Given the description of an element on the screen output the (x, y) to click on. 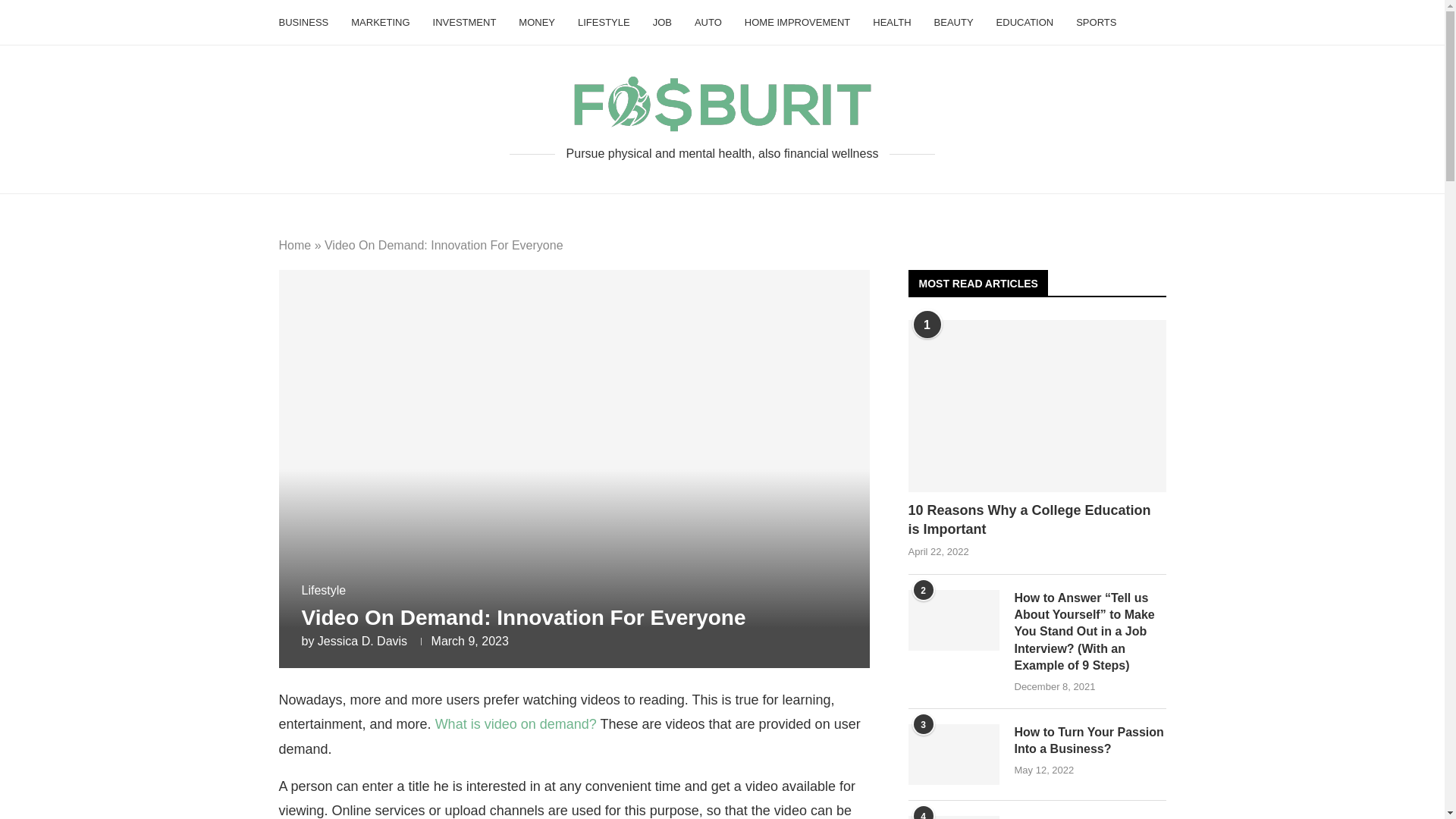
AUTO (708, 22)
MARKETING (379, 22)
Home (295, 245)
BUSINESS (304, 22)
BEAUTY (954, 22)
SPORTS (1095, 22)
Lifestyle (323, 590)
LIFESTYLE (604, 22)
HEALTH (891, 22)
OTHERS (303, 66)
HOME IMPROVEMENT (797, 22)
10 Reasons Why a College Education is Important (1037, 519)
INVESTMENT (464, 22)
JOB (661, 22)
MONEY (536, 22)
